Given the description of an element on the screen output the (x, y) to click on. 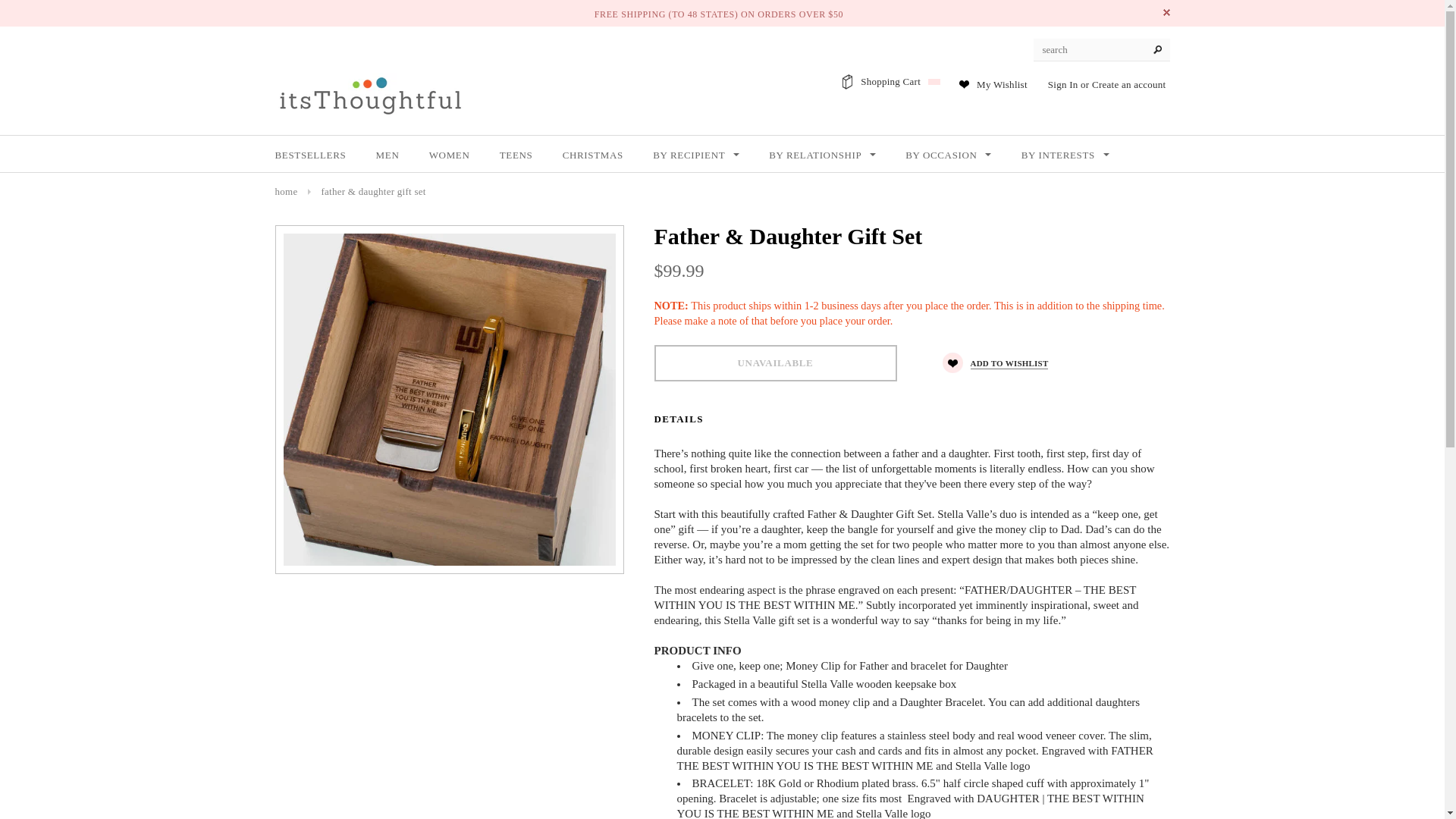
CLOSE (1166, 12)
Create an account (1129, 84)
WOMEN (449, 155)
Shopping Cart (899, 81)
MEN (386, 155)
TEENS (515, 155)
Sign In (1063, 84)
CHRISTMAS (592, 155)
Unavailable (774, 362)
BESTSELLERS (310, 155)
Search (1158, 49)
My Wishlist (1001, 84)
Add to wishlist (995, 362)
Search (1158, 49)
BY RECIPIENT (695, 155)
